Given the description of an element on the screen output the (x, y) to click on. 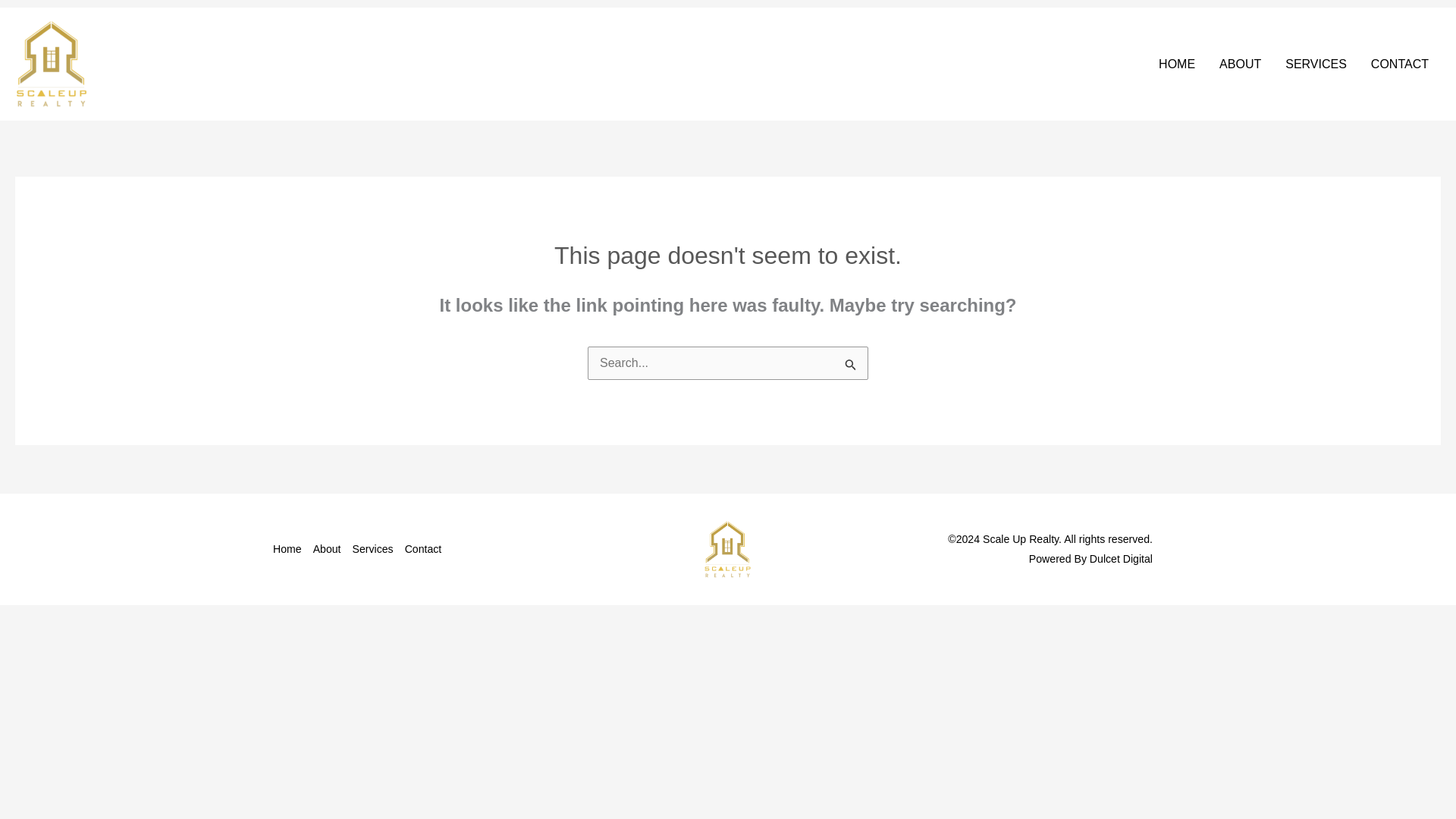
HOME (1177, 63)
SERVICES (1315, 63)
Home (293, 548)
CONTACT (1399, 63)
About (332, 548)
Services (378, 548)
Contact (428, 548)
ABOUT (1239, 63)
